Given the description of an element on the screen output the (x, y) to click on. 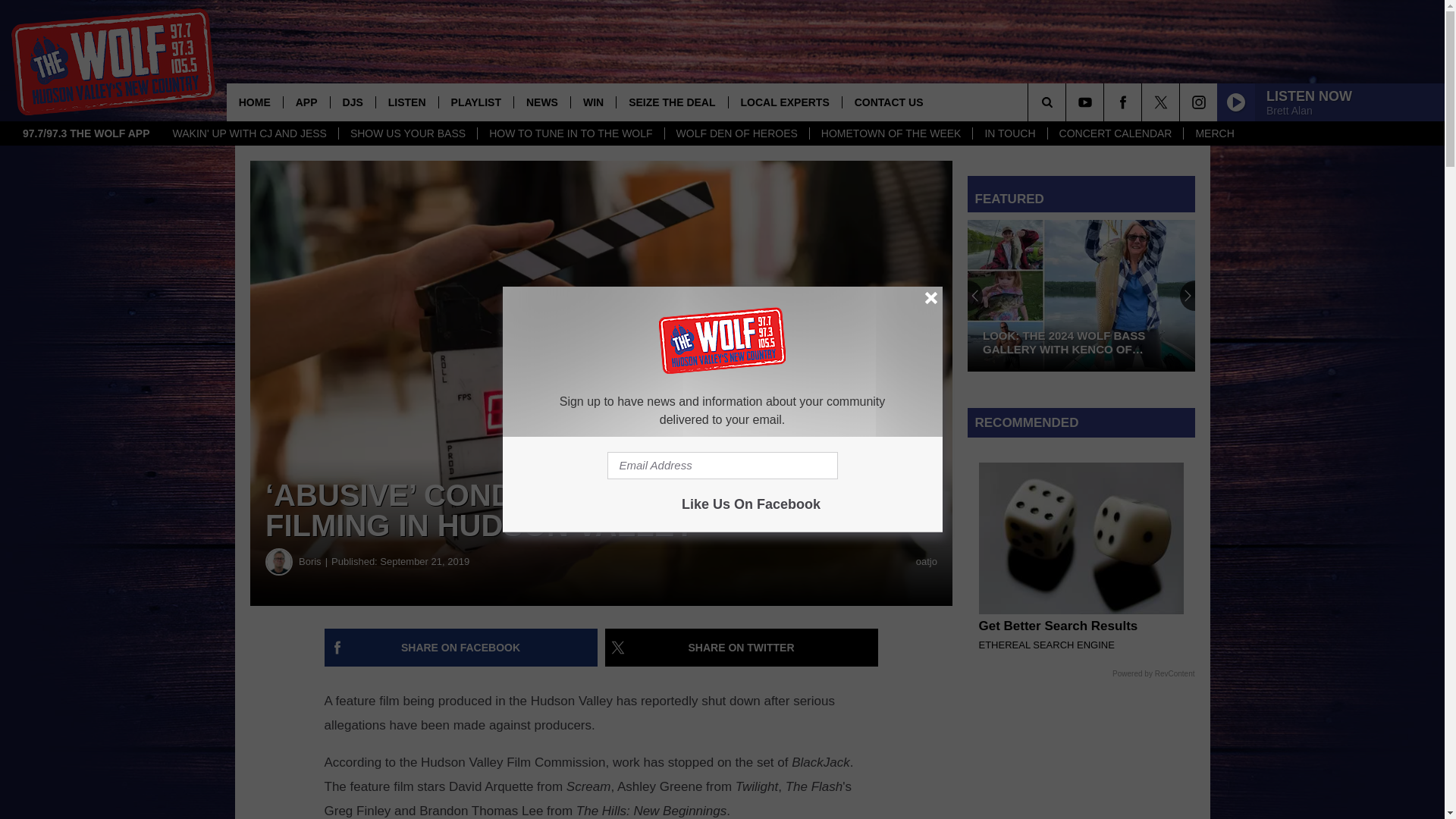
LOCAL EXPERTS (784, 102)
HOME (254, 102)
DJS (352, 102)
Share on Facebook (460, 647)
SEARCH (1068, 102)
SHOW US YOUR BASS (407, 133)
CONTACT US (888, 102)
HOW TO TUNE IN TO THE WOLF (570, 133)
APP (306, 102)
SEARCH (1068, 102)
LISTEN (406, 102)
SEIZE THE DEAL (670, 102)
PLAYLIST (475, 102)
NEWS (541, 102)
MERCH (1213, 133)
